Given the description of an element on the screen output the (x, y) to click on. 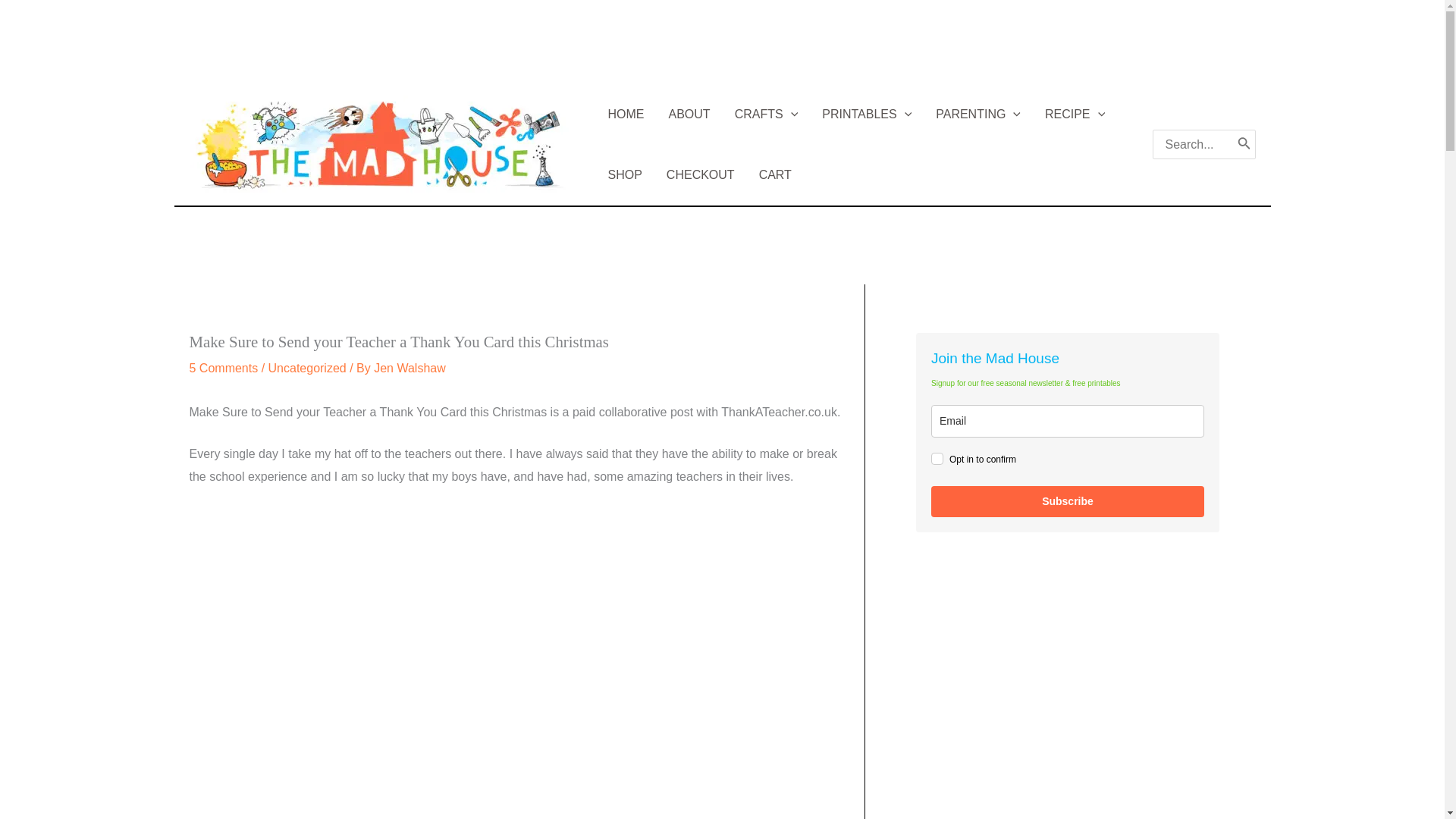
HOME (625, 113)
RECIPE (1074, 113)
ABOUT (689, 113)
PARENTING (977, 113)
CRAFTS (766, 113)
View all posts by Jen Walshaw (409, 367)
PRINTABLES (866, 113)
